Given the description of an element on the screen output the (x, y) to click on. 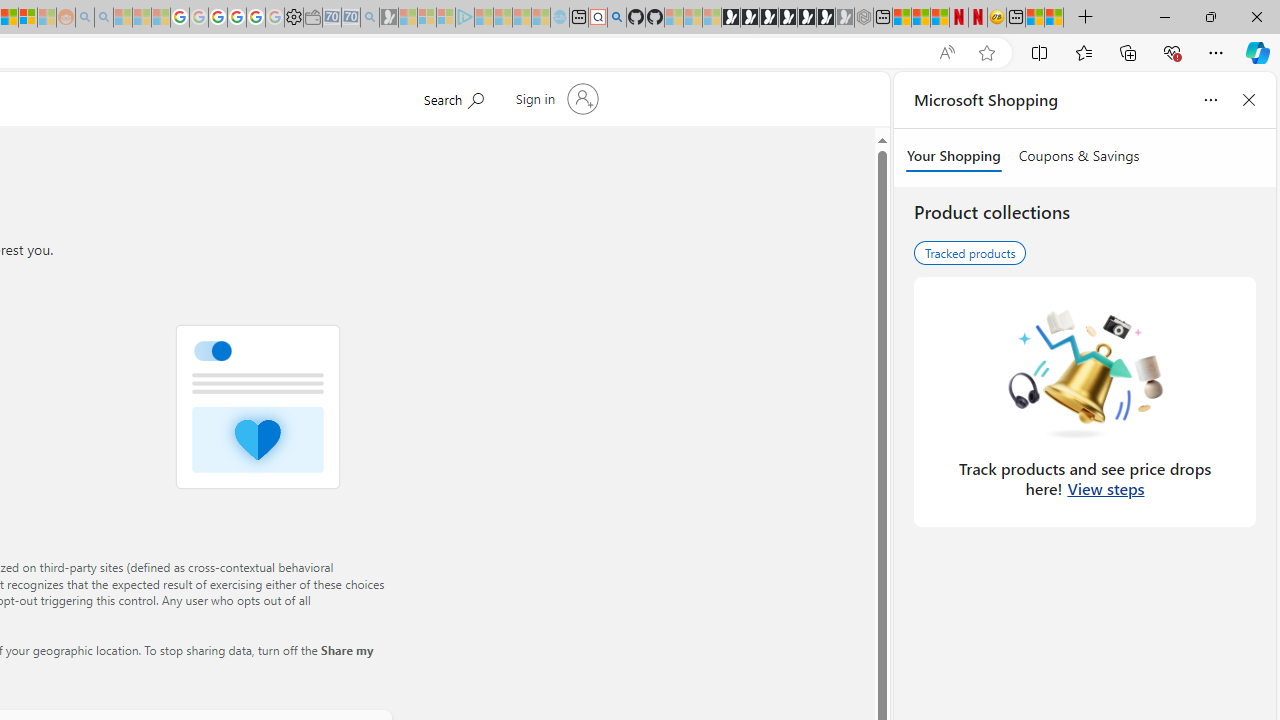
Search Microsoft.com (452, 97)
